Given the description of an element on the screen output the (x, y) to click on. 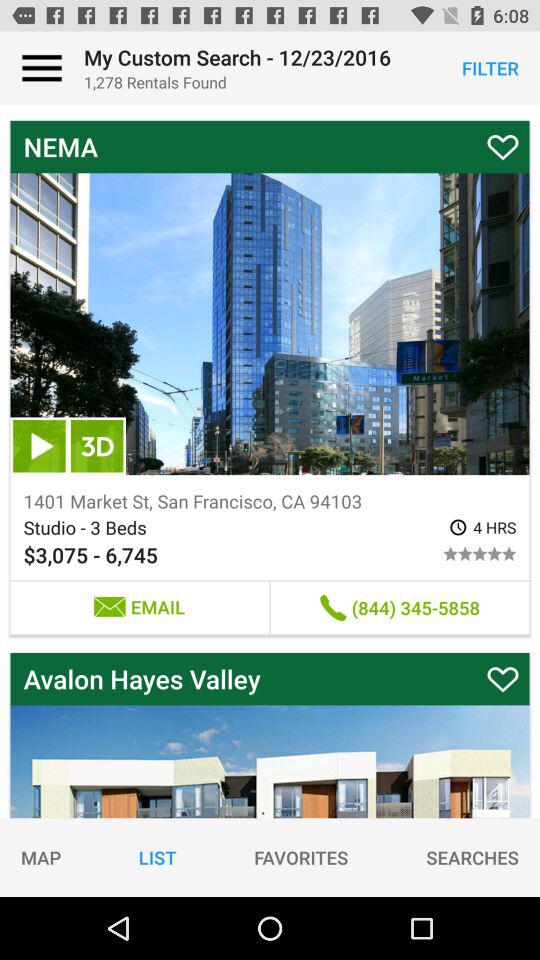
tap searches icon (472, 857)
